Given the description of an element on the screen output the (x, y) to click on. 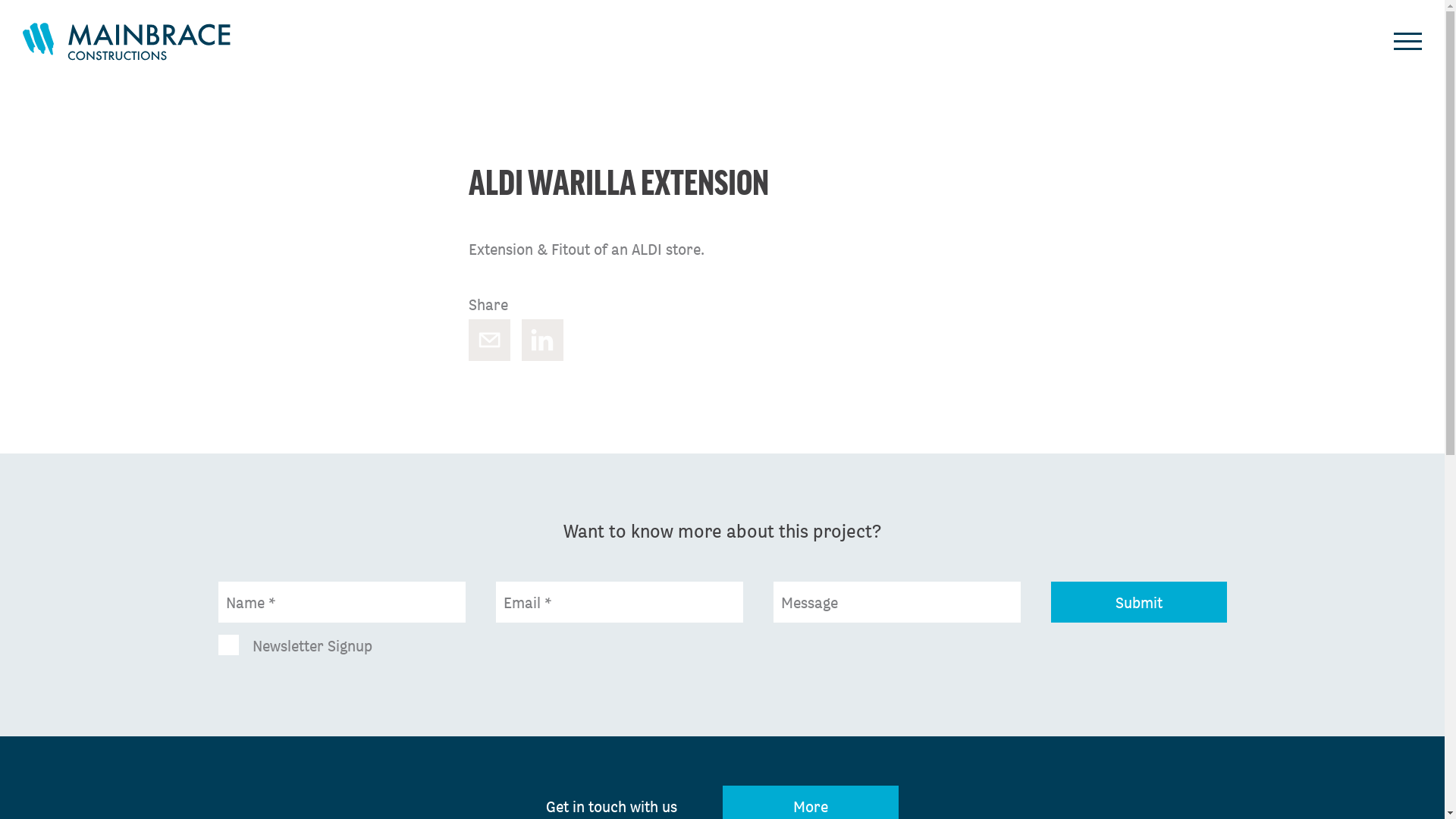
Submit Element type: text (1138, 601)
